Given the description of an element on the screen output the (x, y) to click on. 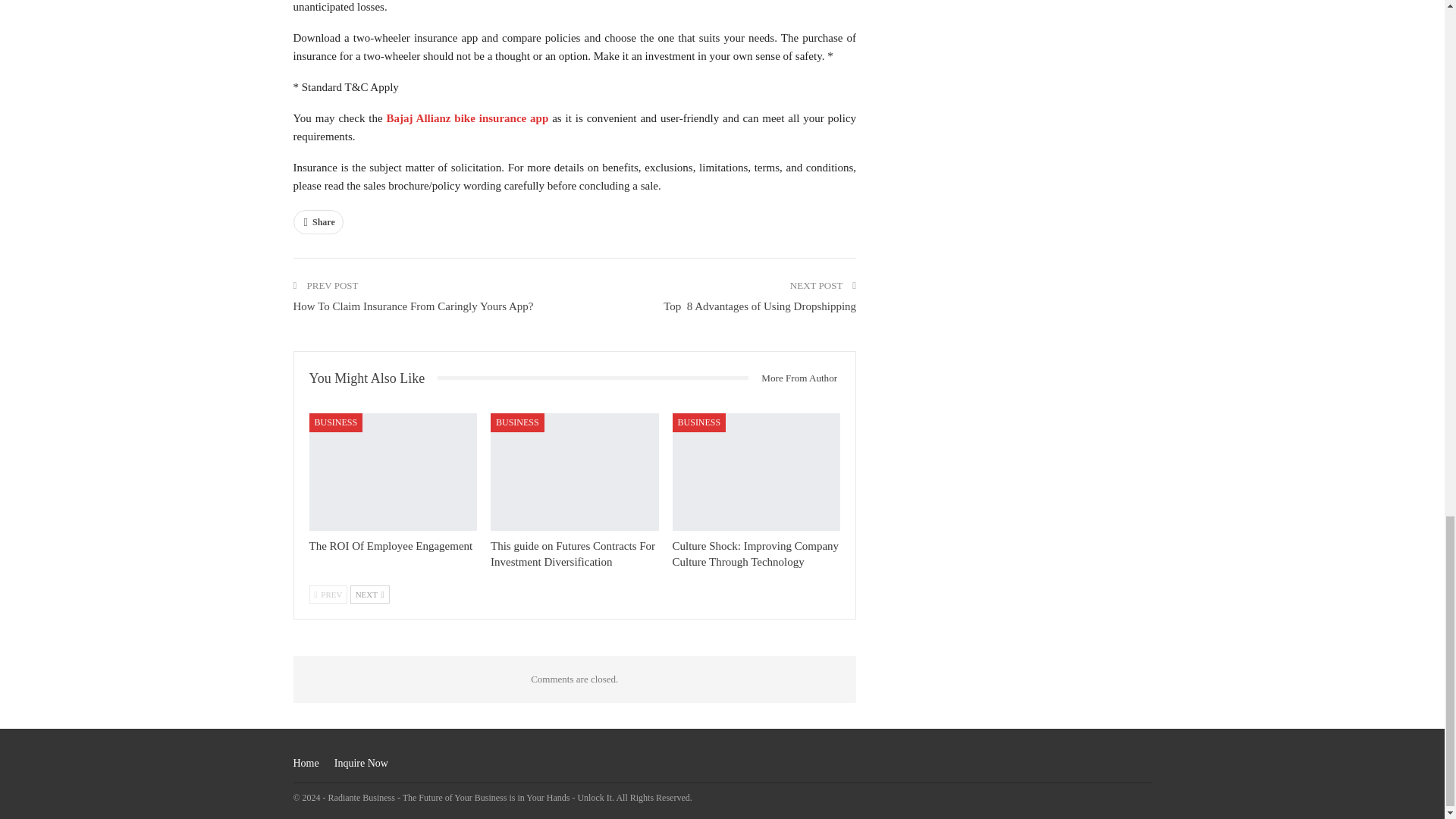
The ROI Of Employee Engagement (392, 471)
The ROI Of Employee Engagement (390, 545)
BUSINESS (517, 422)
PREV (327, 594)
Culture Shock: Improving Company Culture Through Technology (756, 553)
Top  8 Advantages of Using Dropshipping (759, 306)
Next (370, 594)
Bajaj Allianz bike insurance app (467, 118)
Culture Shock: Improving Company Culture Through Technology (756, 471)
More From Author (794, 377)
You Might Also Like (373, 378)
BUSINESS (699, 422)
Previous (327, 594)
